Given the description of an element on the screen output the (x, y) to click on. 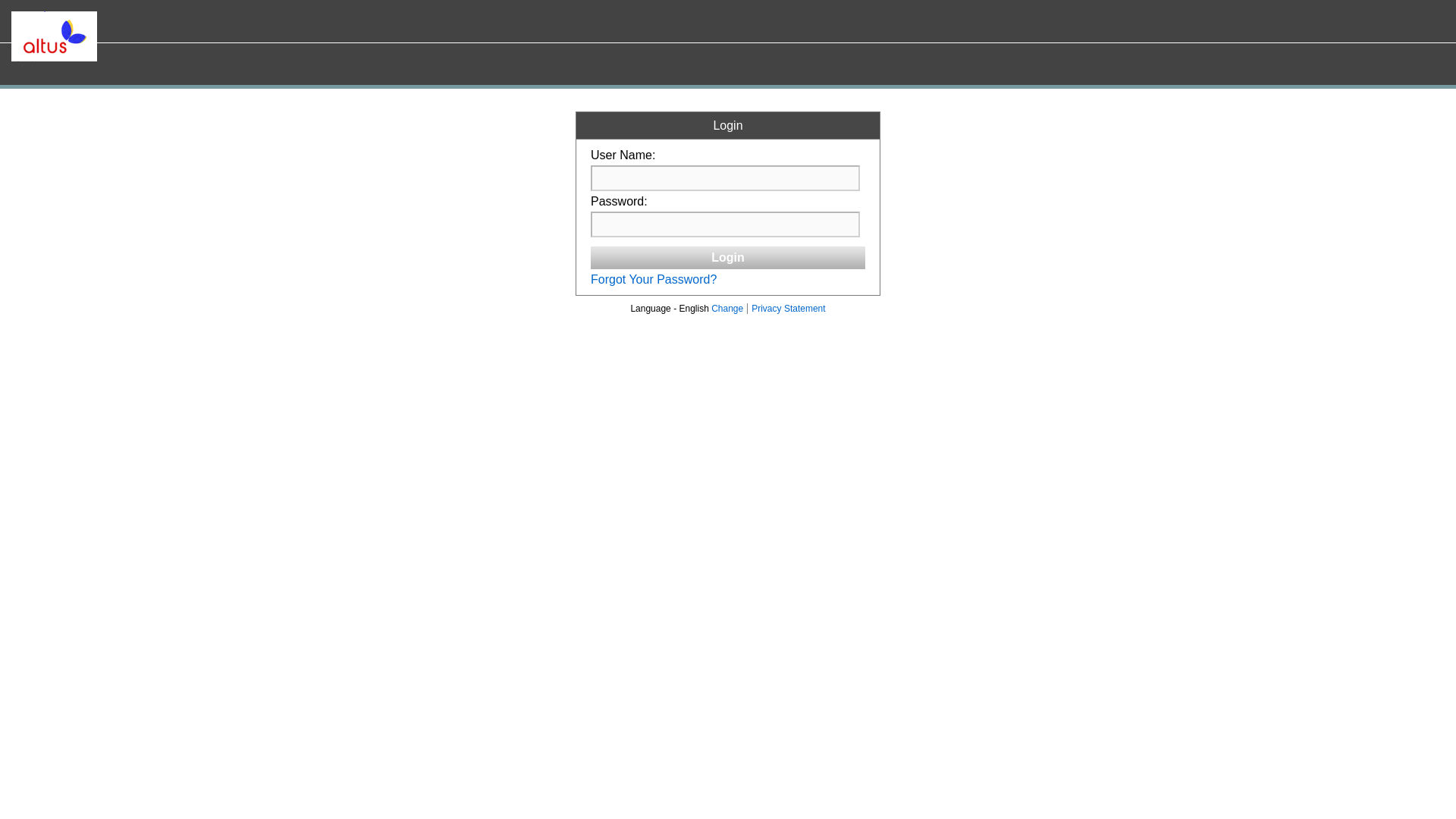
Privacy Statement (785, 308)
Forgot Your Password? (653, 278)
Change (726, 308)
Login (727, 257)
